Given the description of an element on the screen output the (x, y) to click on. 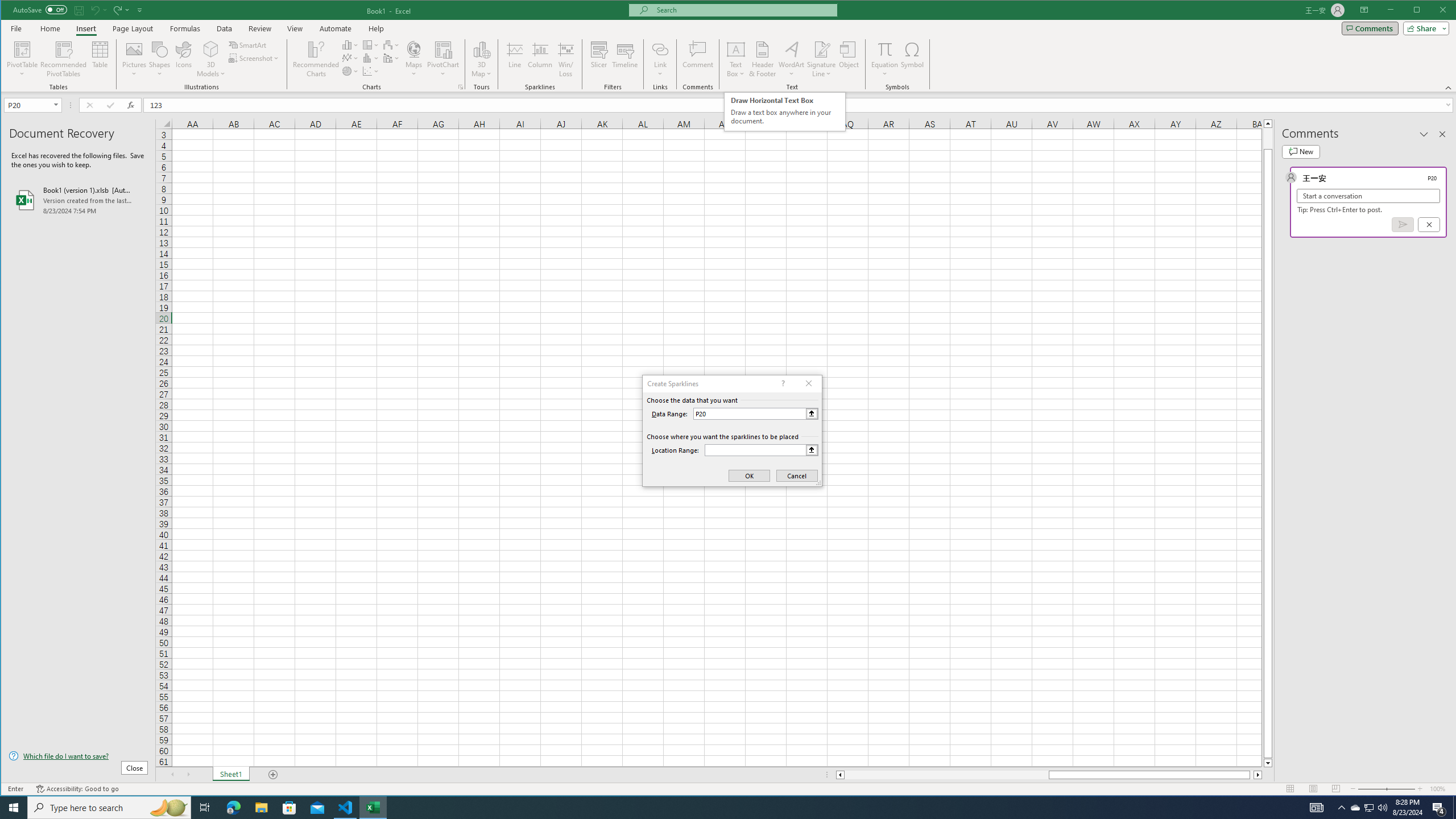
Link (659, 48)
PivotTable (22, 48)
Equation (884, 59)
3D Map (481, 59)
Which file do I want to save? (78, 755)
PivotTable (22, 59)
